Given the description of an element on the screen output the (x, y) to click on. 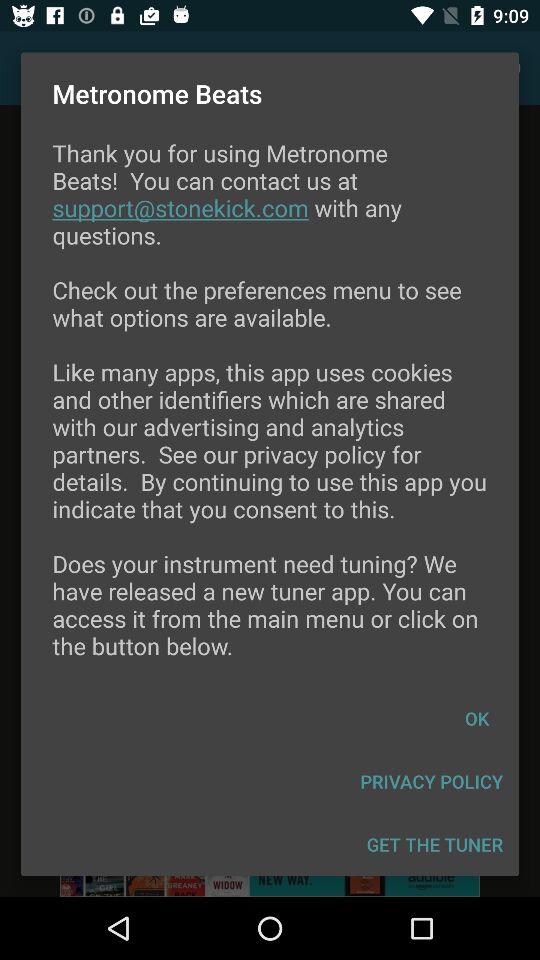
press the privacy policy (431, 781)
